Given the description of an element on the screen output the (x, y) to click on. 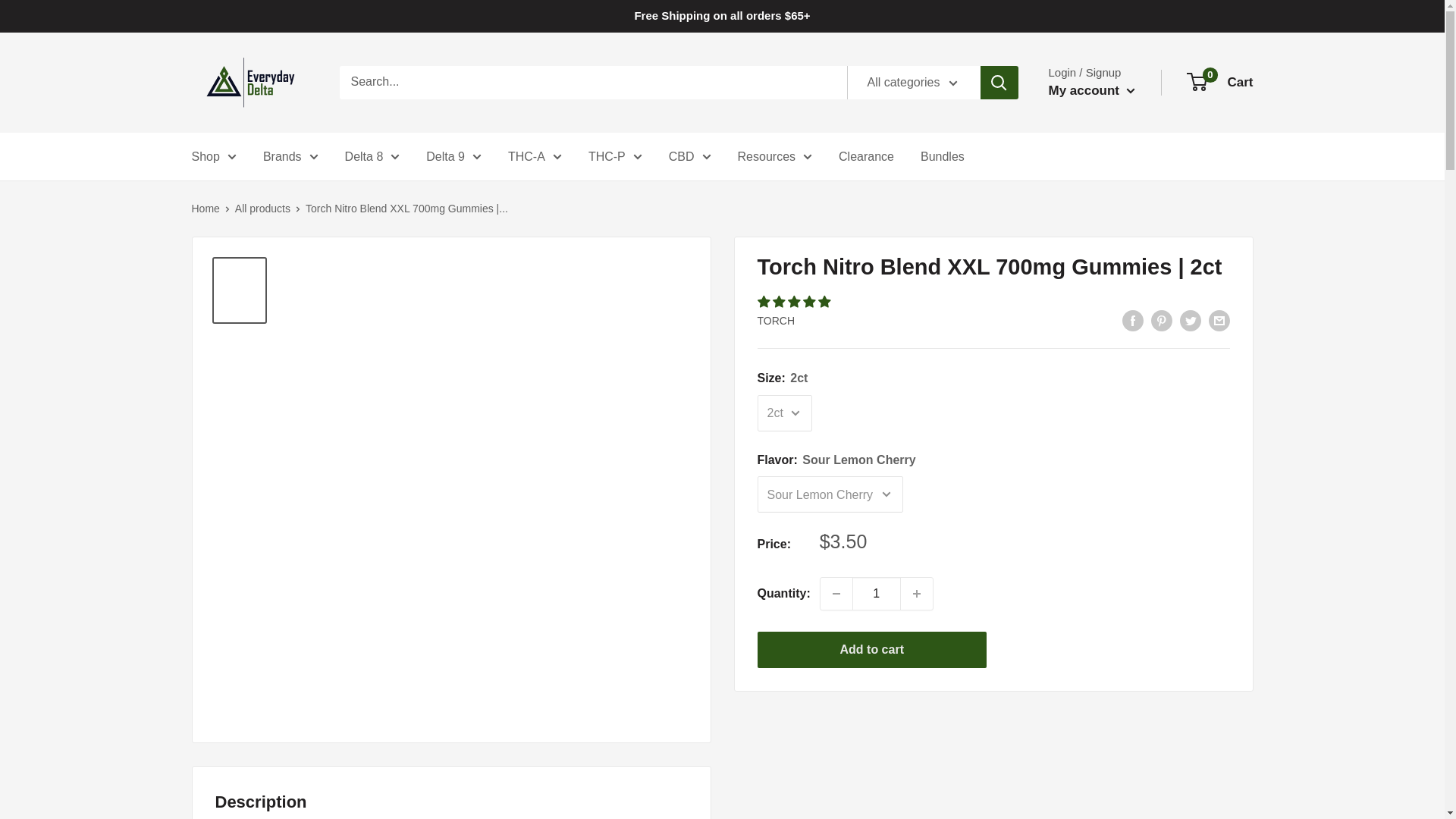
Increase quantity by 1 (917, 593)
1 (876, 593)
Decrease quantity by 1 (836, 593)
